Given the description of an element on the screen output the (x, y) to click on. 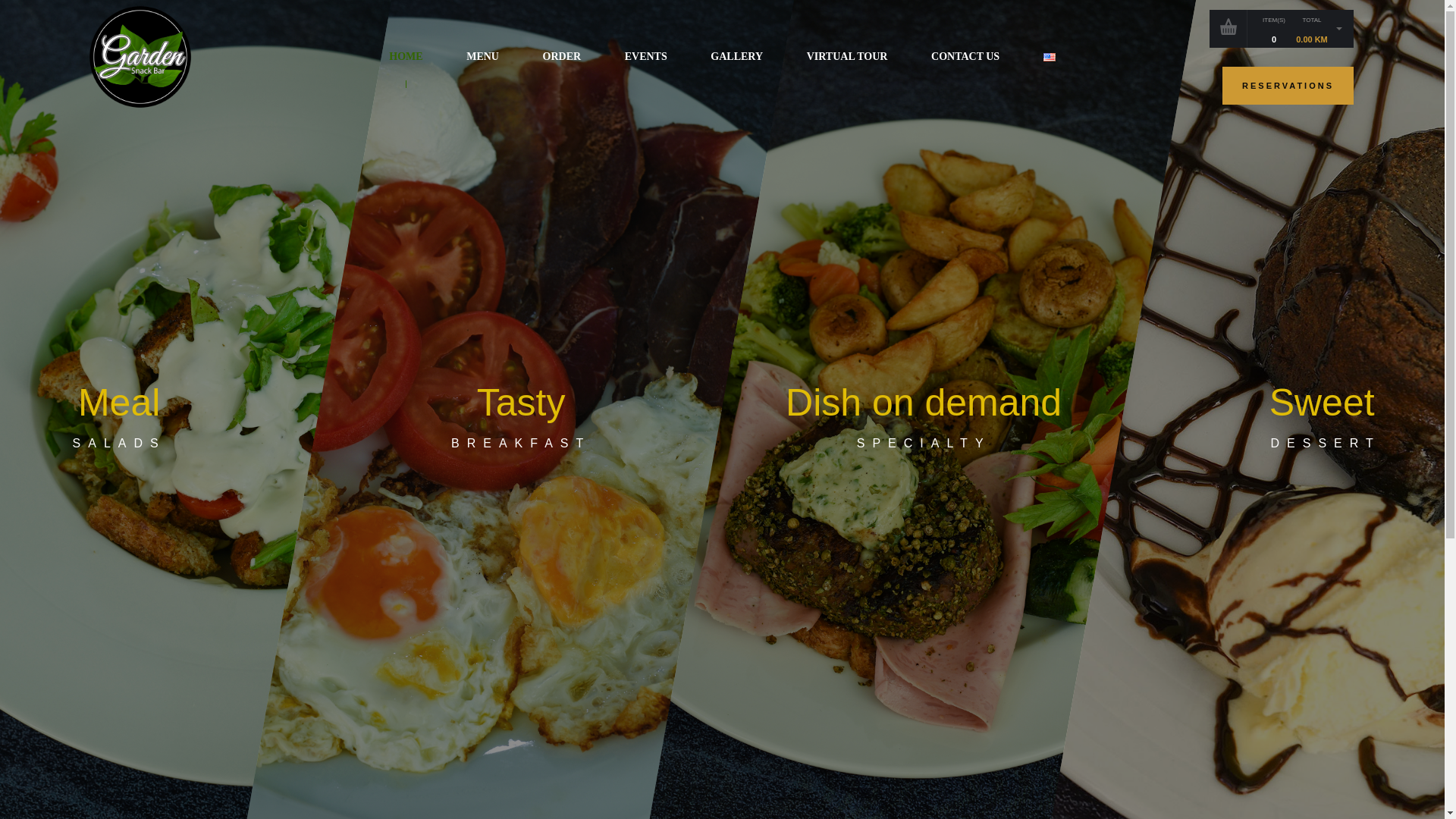
EVENTS Element type: text (645, 56)
MENU Element type: text (482, 56)
English Element type: hover (1049, 57)
ITEM(S)
0
TOTAL
0.00 KM Element type: text (1281, 28)
ORDER Element type: text (561, 56)
CONTACT US Element type: text (965, 56)
RESERVATIONS Element type: text (1287, 85)
GALLERY Element type: text (736, 56)
HOME Element type: text (405, 56)
VIRTUAL TOUR Element type: text (846, 56)
